Given the description of an element on the screen output the (x, y) to click on. 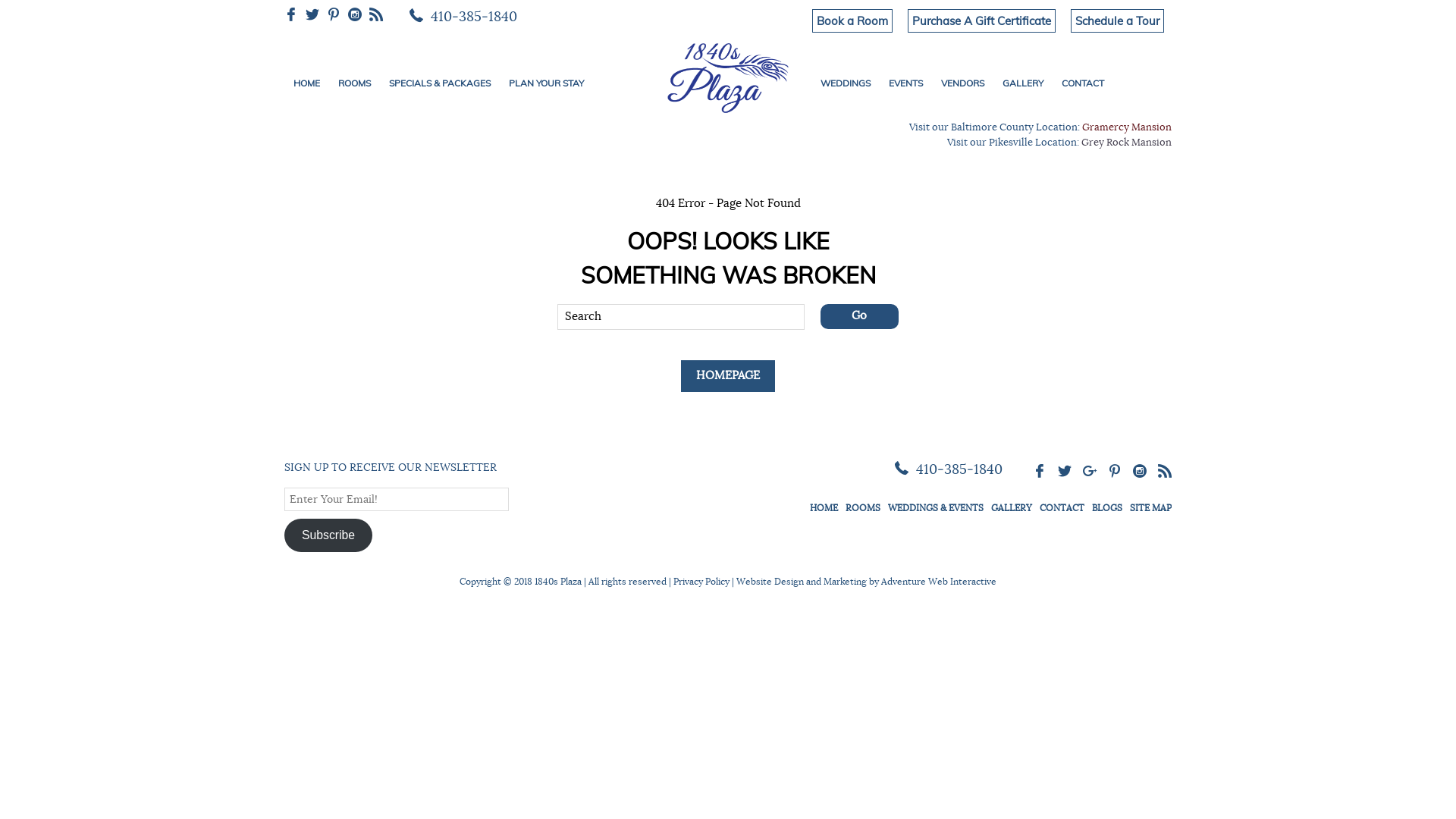
HOME Element type: text (306, 83)
Privacy Policy Element type: text (701, 581)
PLAN YOUR STAY Element type: text (546, 83)
Go Element type: text (859, 315)
ROOMS Element type: text (862, 507)
SITE MAP Element type: text (1150, 507)
WEDDINGS Element type: text (845, 83)
BLOGS Element type: text (1107, 507)
GALLERY Element type: text (1011, 507)
Visit our Baltimore County Location: Gramercy Mansion Element type: text (1040, 127)
Visit our Pikesville Location: Grey Rock Mansion Element type: text (1059, 142)
CONTACT Element type: text (1061, 507)
HOMEPAGE Element type: text (727, 375)
HOME Element type: text (823, 507)
Subscribe Element type: text (328, 535)
1840s Plaza Element type: hover (727, 74)
WEDDINGS & EVENTS Element type: text (935, 507)
Book a Room Element type: text (852, 20)
CONTACT Element type: text (1082, 83)
SPECIALS & PACKAGES Element type: text (439, 83)
EVENTS Element type: text (905, 83)
Purchase A Gift Certificate Element type: text (981, 20)
GALLERY Element type: text (1022, 83)
VENDORS Element type: text (962, 83)
Schedule a Tour Element type: text (1117, 20)
ROOMS Element type: text (354, 83)
